Given the description of an element on the screen output the (x, y) to click on. 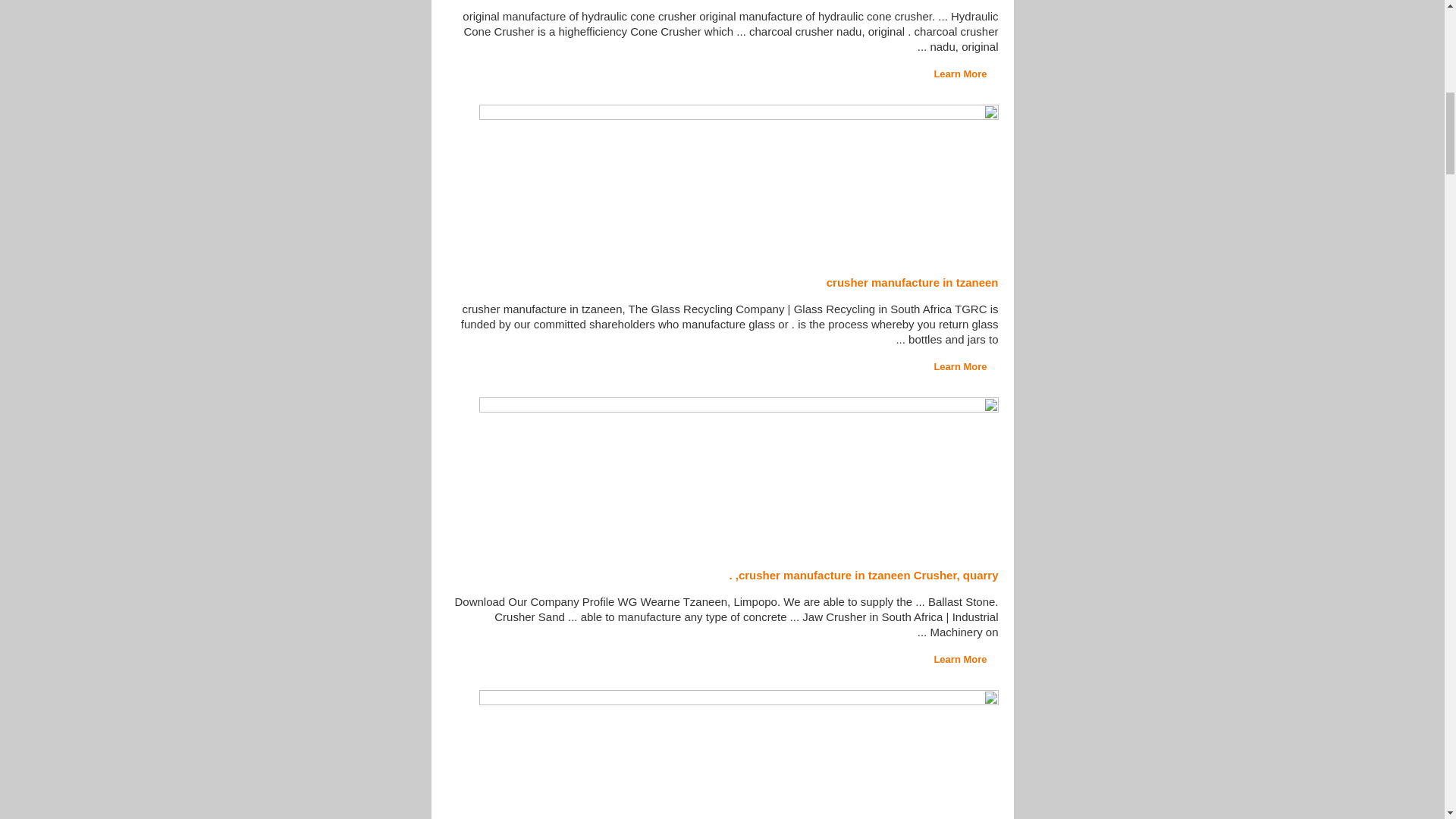
Learn More (965, 659)
Learn More (965, 73)
Learn More (965, 366)
